Given the description of an element on the screen output the (x, y) to click on. 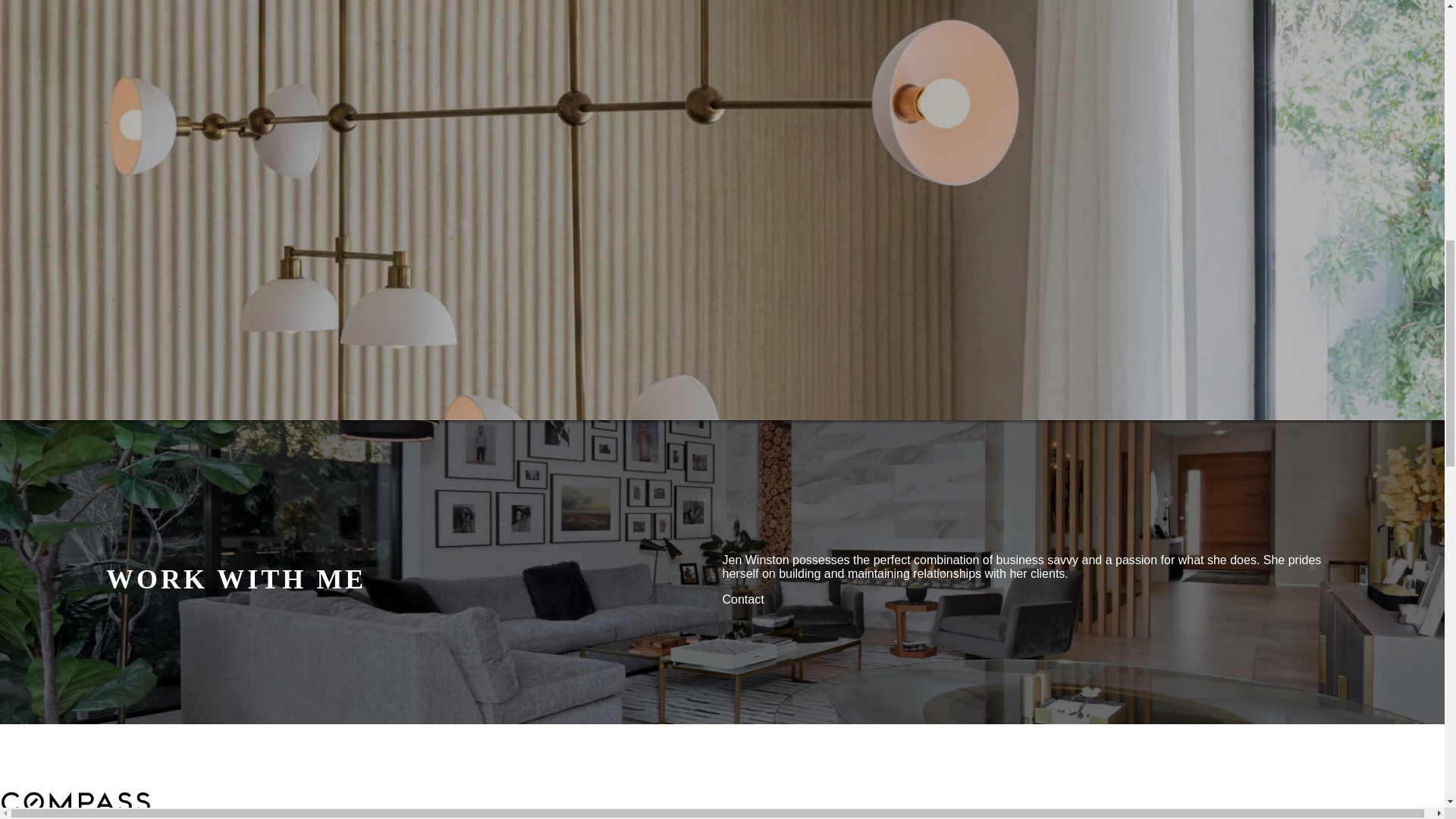
Contact (742, 599)
